Given the description of an element on the screen output the (x, y) to click on. 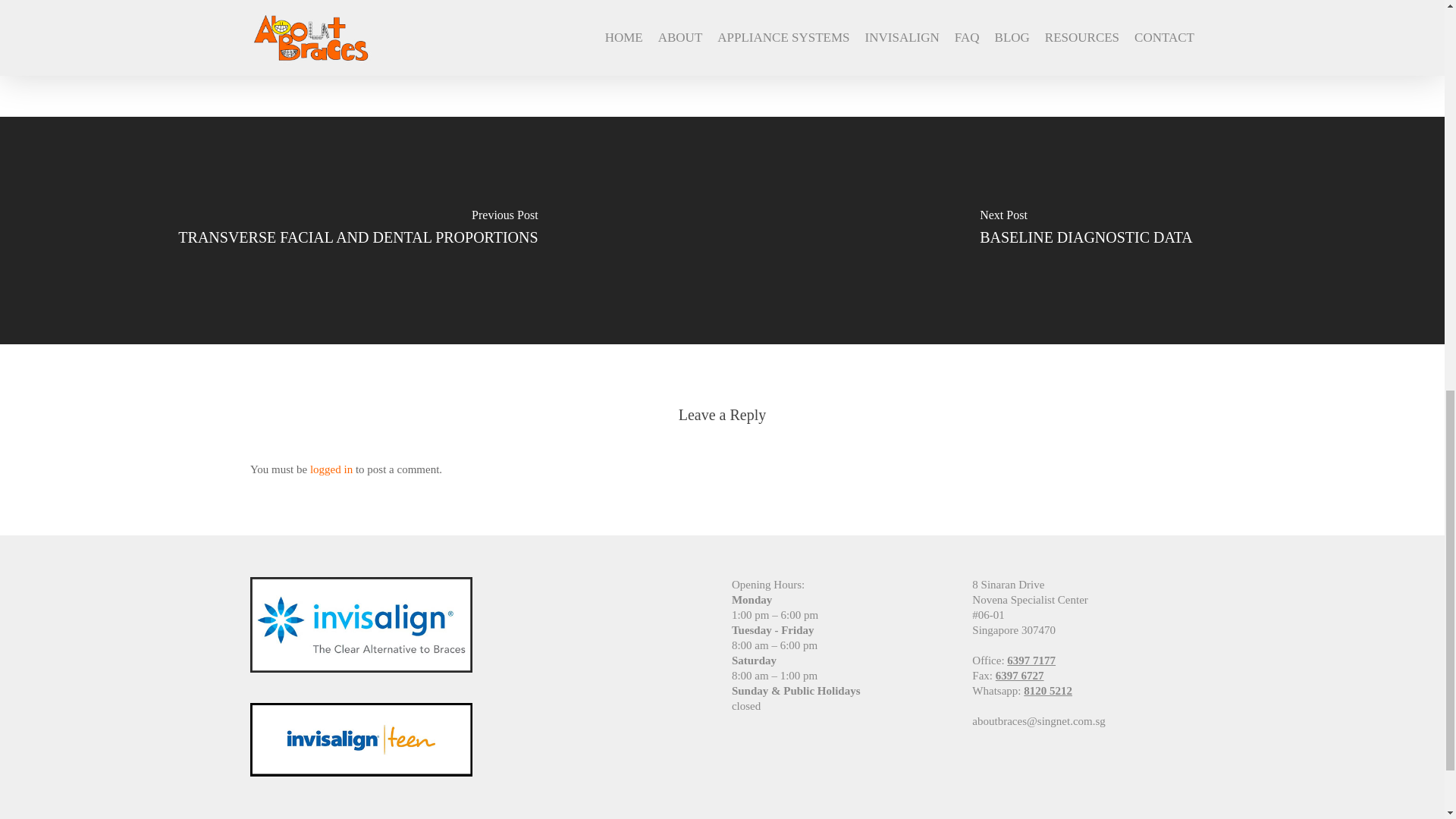
8120 5212 (1047, 690)
6397 7177 (1031, 660)
logged in (331, 469)
6397 6727 (1019, 675)
